Given the description of an element on the screen output the (x, y) to click on. 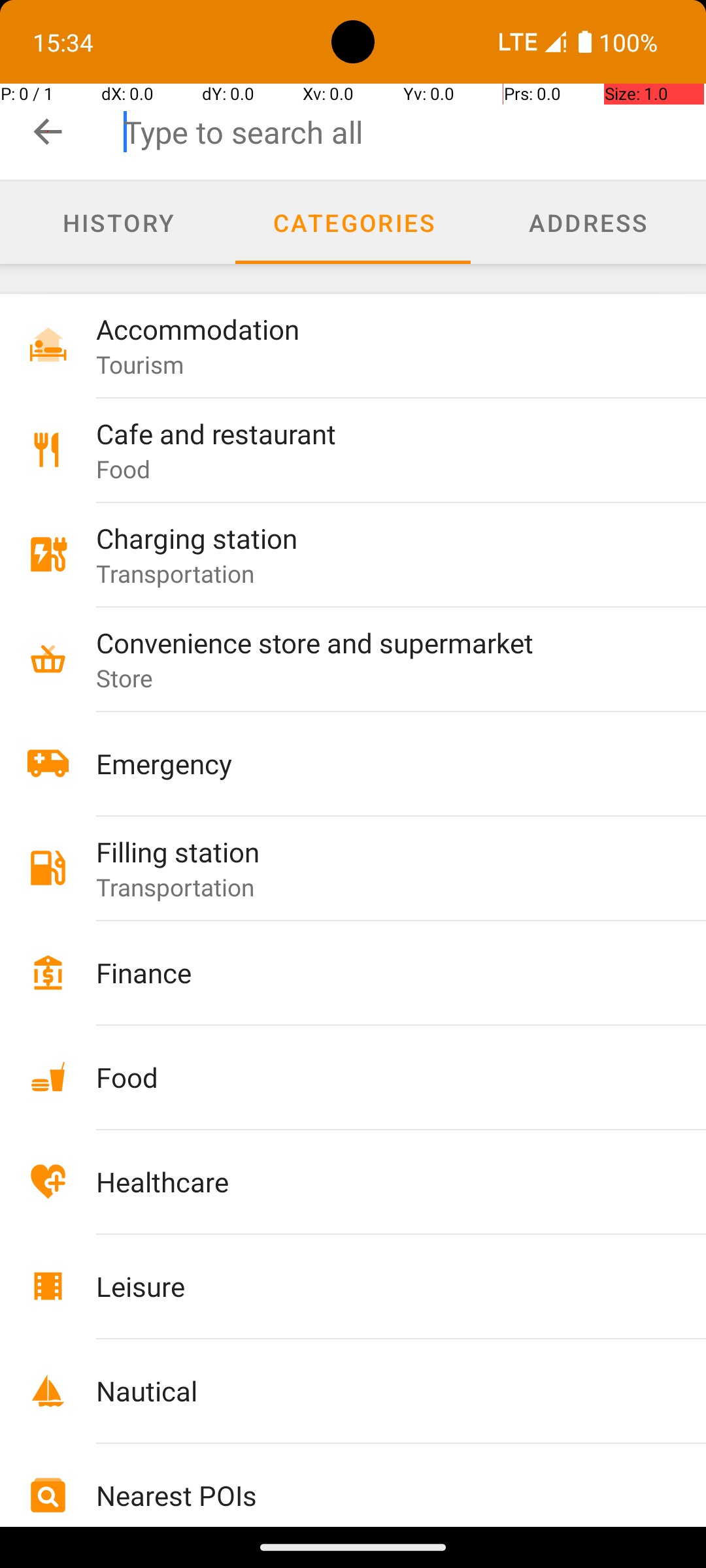
Type to search all Element type: android.widget.EditText (414, 131)
Accommodation Element type: android.widget.TextView (373, 328)
Tourism Element type: android.widget.TextView (140, 363)
Cafe and restaurant Element type: android.widget.TextView (373, 433)
Charging station Element type: android.widget.TextView (373, 537)
Transportation Element type: android.widget.TextView (175, 572)
Convenience store and supermarket Element type: android.widget.TextView (373, 642)
Store Element type: android.widget.TextView (124, 677)
Emergency Element type: android.widget.TextView (373, 763)
Filling station Element type: android.widget.TextView (373, 851)
Healthcare Element type: android.widget.TextView (373, 1181)
Leisure Element type: android.widget.TextView (373, 1285)
Nautical Element type: android.widget.TextView (373, 1390)
Nearest POIs Element type: android.widget.TextView (373, 1494)
